Given the description of an element on the screen output the (x, y) to click on. 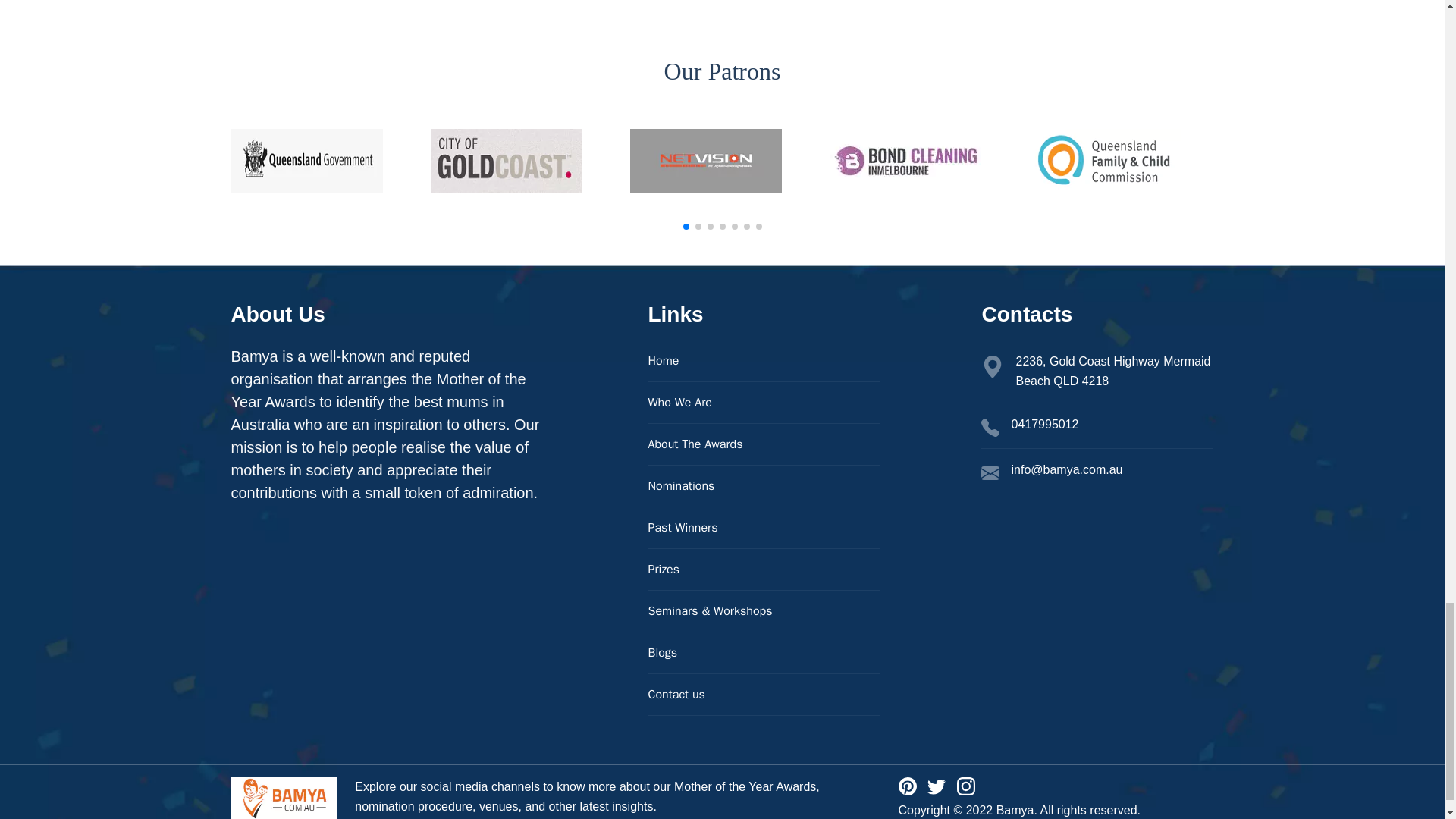
Prizes (763, 569)
Nominations (763, 486)
About The Awards (763, 445)
Who We Are (763, 403)
Past Winners (763, 527)
Home (763, 361)
